Given the description of an element on the screen output the (x, y) to click on. 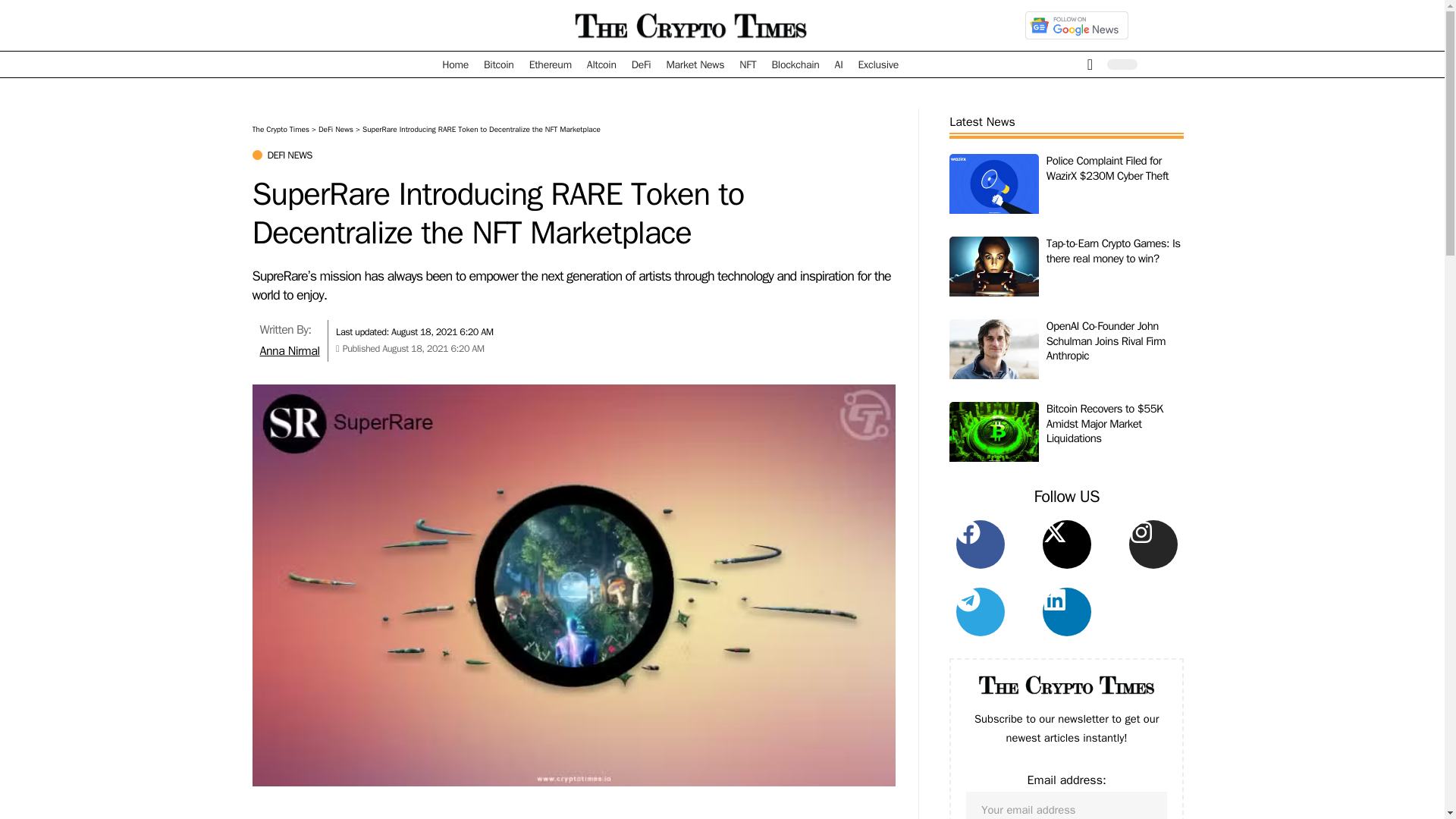
Blockchain (794, 64)
Altcoin (601, 64)
Market News (695, 64)
Tap-to-Earn Crypto Games: Is there real money to win? (994, 271)
Go to The Crypto Times. (279, 129)
Home (454, 64)
Exclusive (877, 64)
NFT (747, 64)
Go to the DeFi News Category archives. (335, 129)
AI (838, 64)
Ethereum (550, 64)
OpenAI Co-Founder John Schulman Joins Rival Firm Anthropic (994, 354)
Bitcoin (498, 64)
DeFi (641, 64)
